Given the description of an element on the screen output the (x, y) to click on. 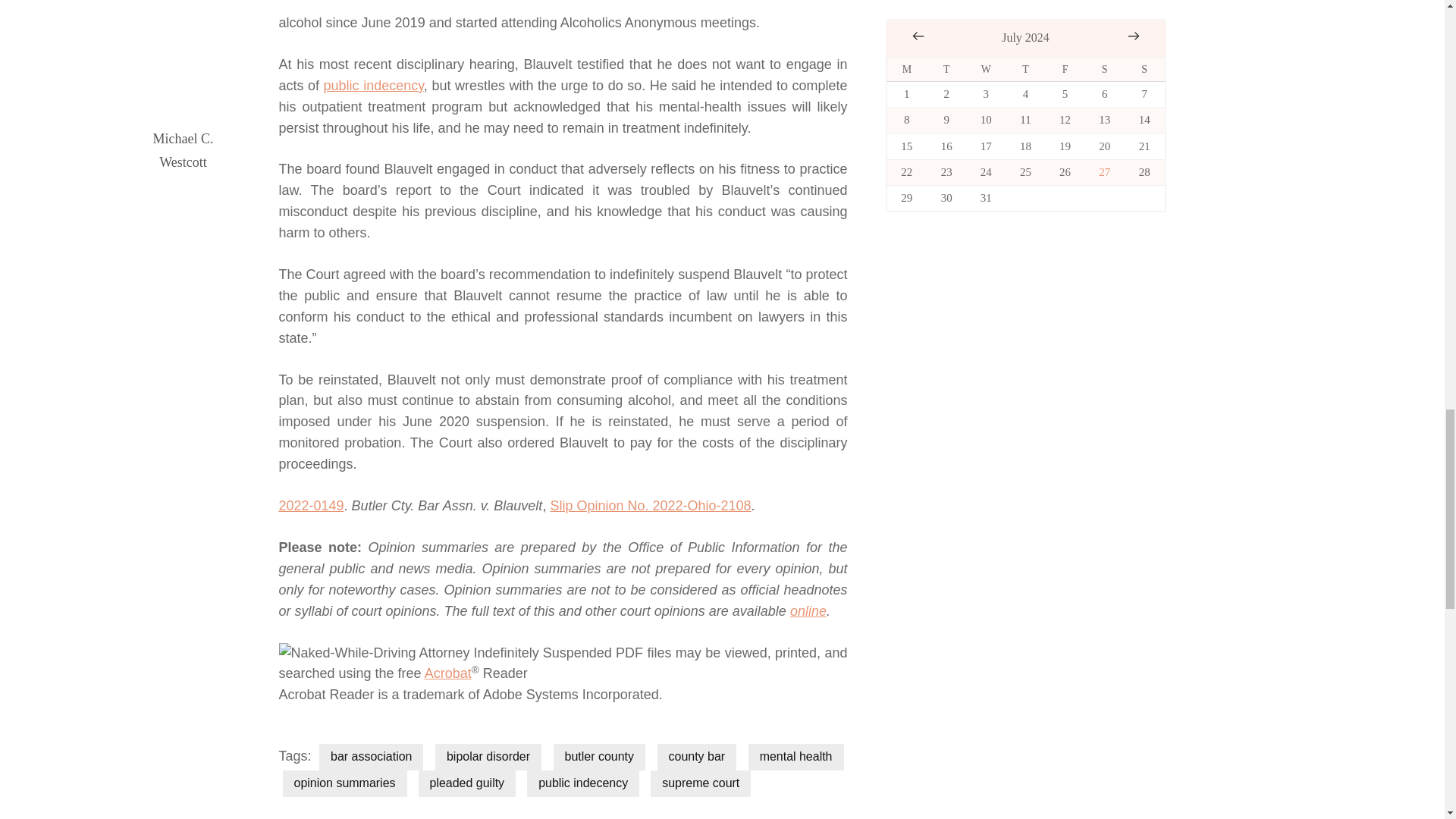
butler county (599, 756)
public indecency (583, 783)
Wednesday (986, 68)
Link opens new window (650, 505)
Link opens new window. (808, 611)
2022-0149 (311, 505)
Acrobat (448, 672)
Tuesday (946, 68)
online (808, 611)
Monday (906, 68)
Click to view. Link opens new window. (311, 505)
Link opens new window. (448, 672)
mental health (796, 756)
county bar (697, 756)
supreme court (700, 783)
